Given the description of an element on the screen output the (x, y) to click on. 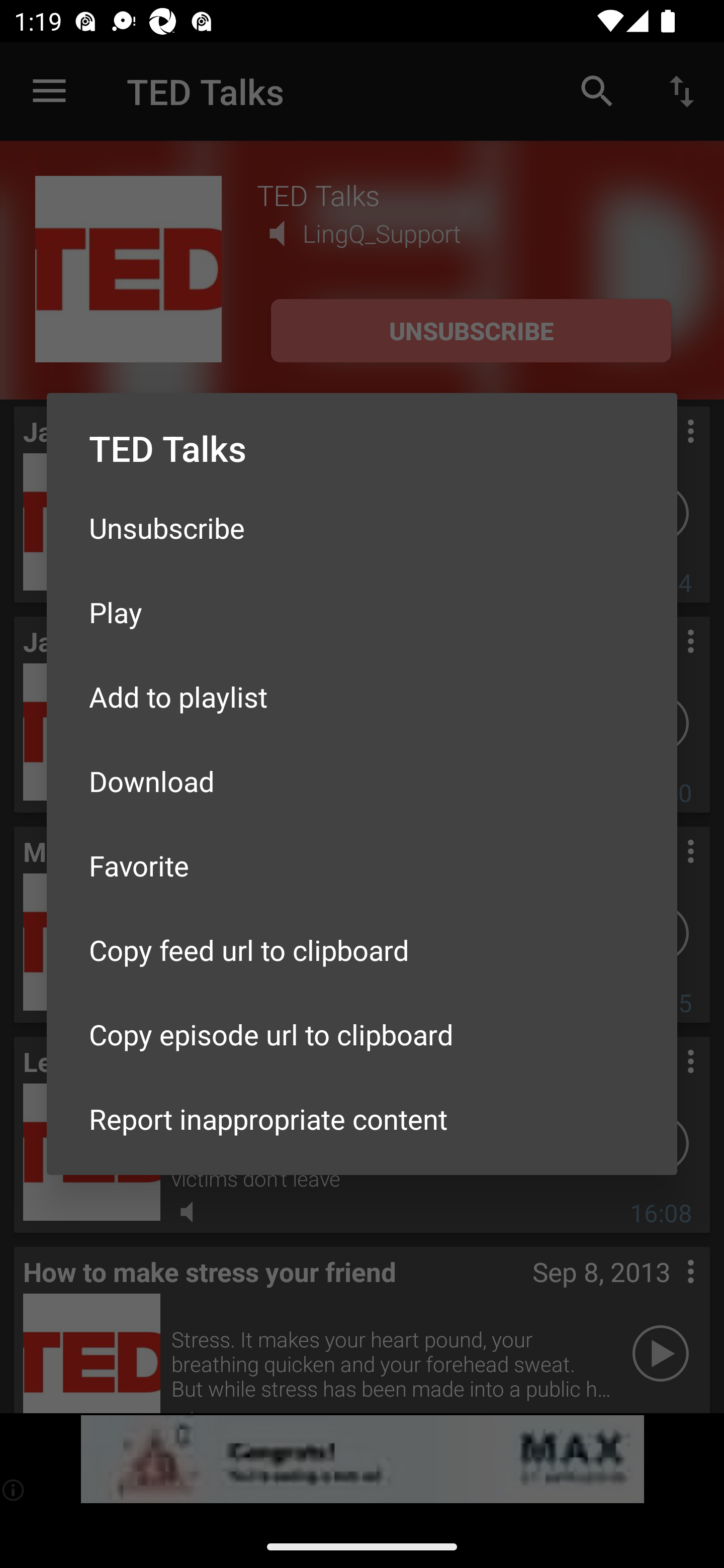
Unsubscribe (361, 527)
Play (361, 611)
Add to playlist (361, 695)
Download (361, 780)
Favorite (361, 865)
Copy feed url to clipboard (361, 949)
Copy episode url to clipboard (361, 1034)
Report inappropriate content (361, 1118)
